Given the description of an element on the screen output the (x, y) to click on. 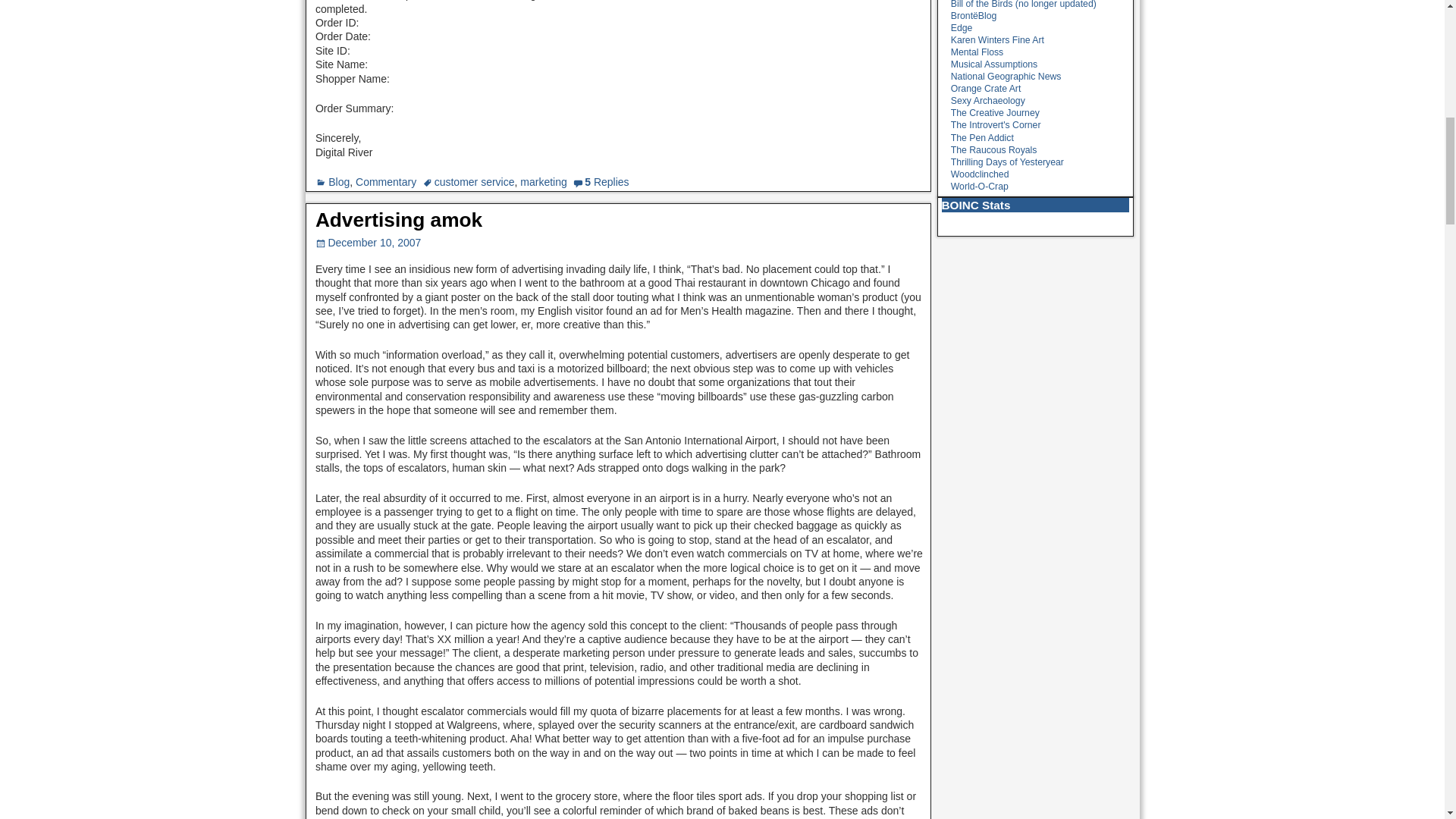
06:18 (368, 242)
marketing (542, 182)
customer service (474, 182)
December 10, 2007 (368, 242)
Commentary (385, 182)
5 Replies (606, 182)
Advertising amok (398, 219)
Blog (339, 182)
Permalink to Advertising amok (398, 219)
